Given the description of an element on the screen output the (x, y) to click on. 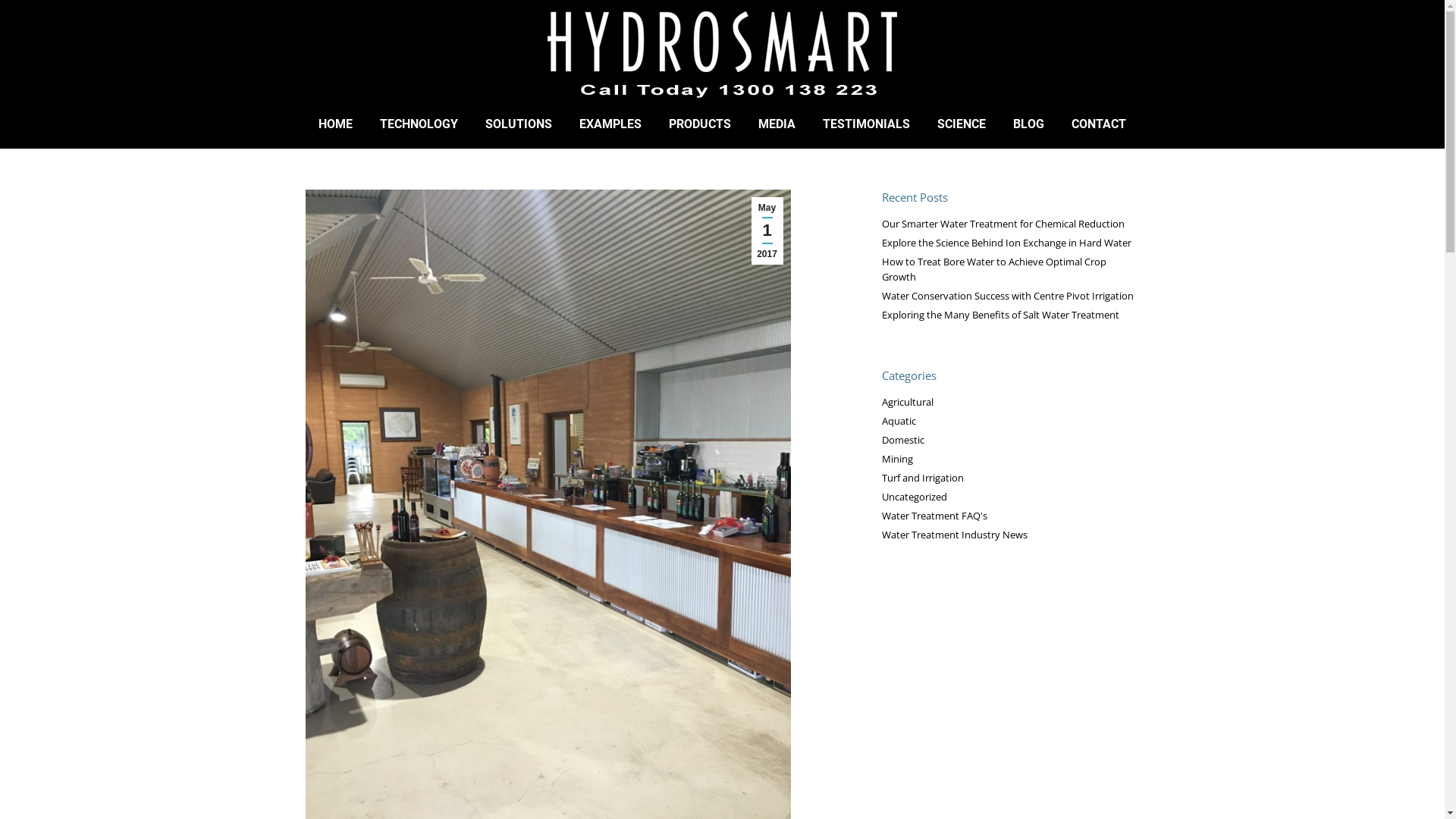
TECHNOLOGY Element type: text (418, 123)
Aquatic Element type: text (898, 420)
Mining Element type: text (896, 458)
TESTIMONIALS Element type: text (866, 123)
PRODUCTS Element type: text (699, 123)
SCIENCE Element type: text (961, 123)
May
1
2017 Element type: text (766, 230)
Water Treatment Industry News Element type: text (953, 534)
Turf and Irrigation Element type: text (922, 477)
How to Treat Bore Water to Achieve Optimal Crop Growth Element type: text (1010, 269)
CONTACT Element type: text (1098, 123)
Domestic Element type: text (902, 439)
Our Smarter Water Treatment for Chemical Reduction Element type: text (1002, 223)
EXAMPLES Element type: text (610, 123)
SOLUTIONS Element type: text (518, 123)
Water Conservation Success with Centre Pivot Irrigation Element type: text (1006, 295)
Water Treatment FAQ's Element type: text (933, 515)
Explore the Science Behind Ion Exchange in Hard Water Element type: text (1005, 242)
HOME Element type: text (335, 123)
MEDIA Element type: text (776, 123)
BLOG Element type: text (1028, 123)
Exploring the Many Benefits of Salt Water Treatment Element type: text (999, 314)
Agricultural Element type: text (906, 401)
Uncategorized Element type: text (913, 496)
